Given the description of an element on the screen output the (x, y) to click on. 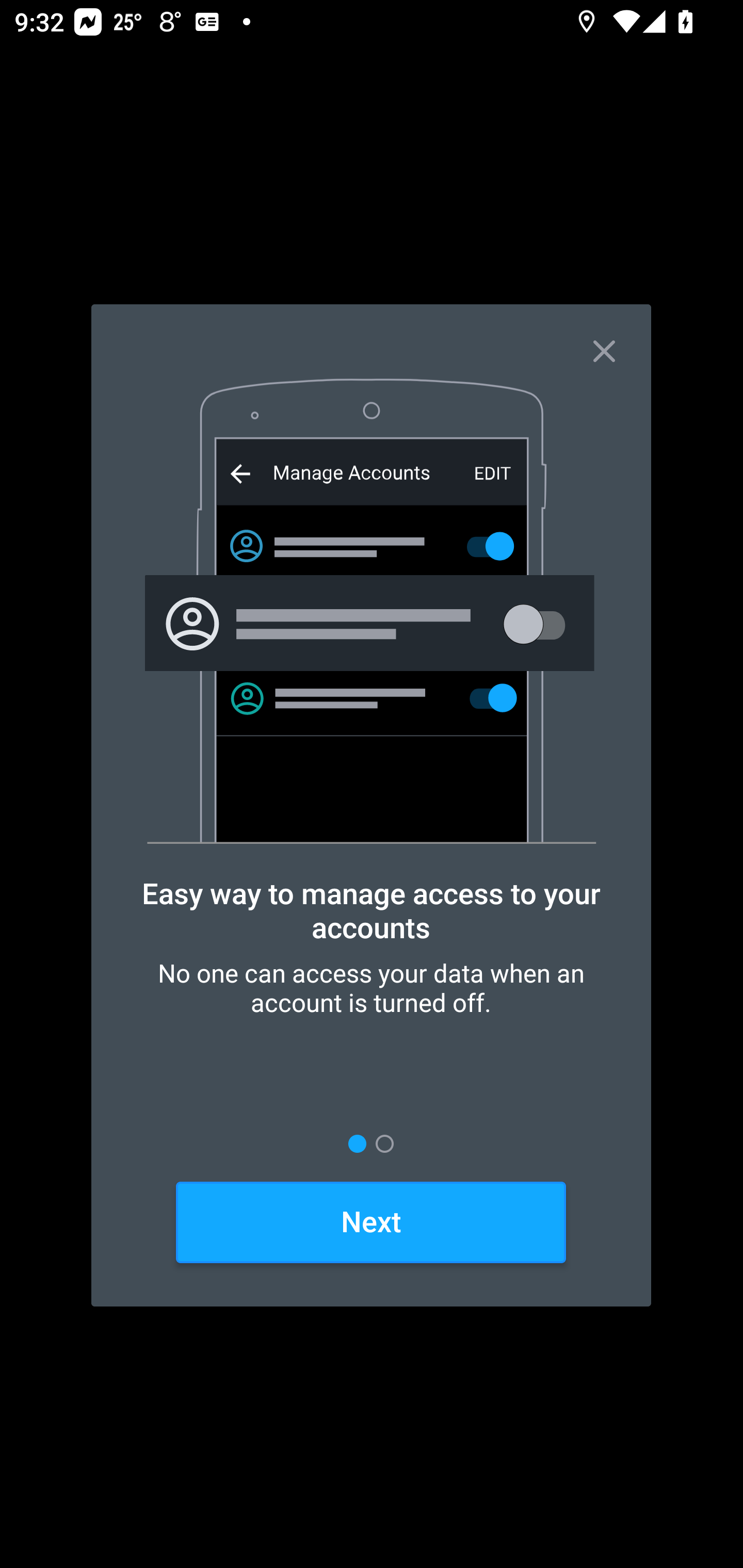
Close (621, 340)
Next (371, 1222)
